Given the description of an element on the screen output the (x, y) to click on. 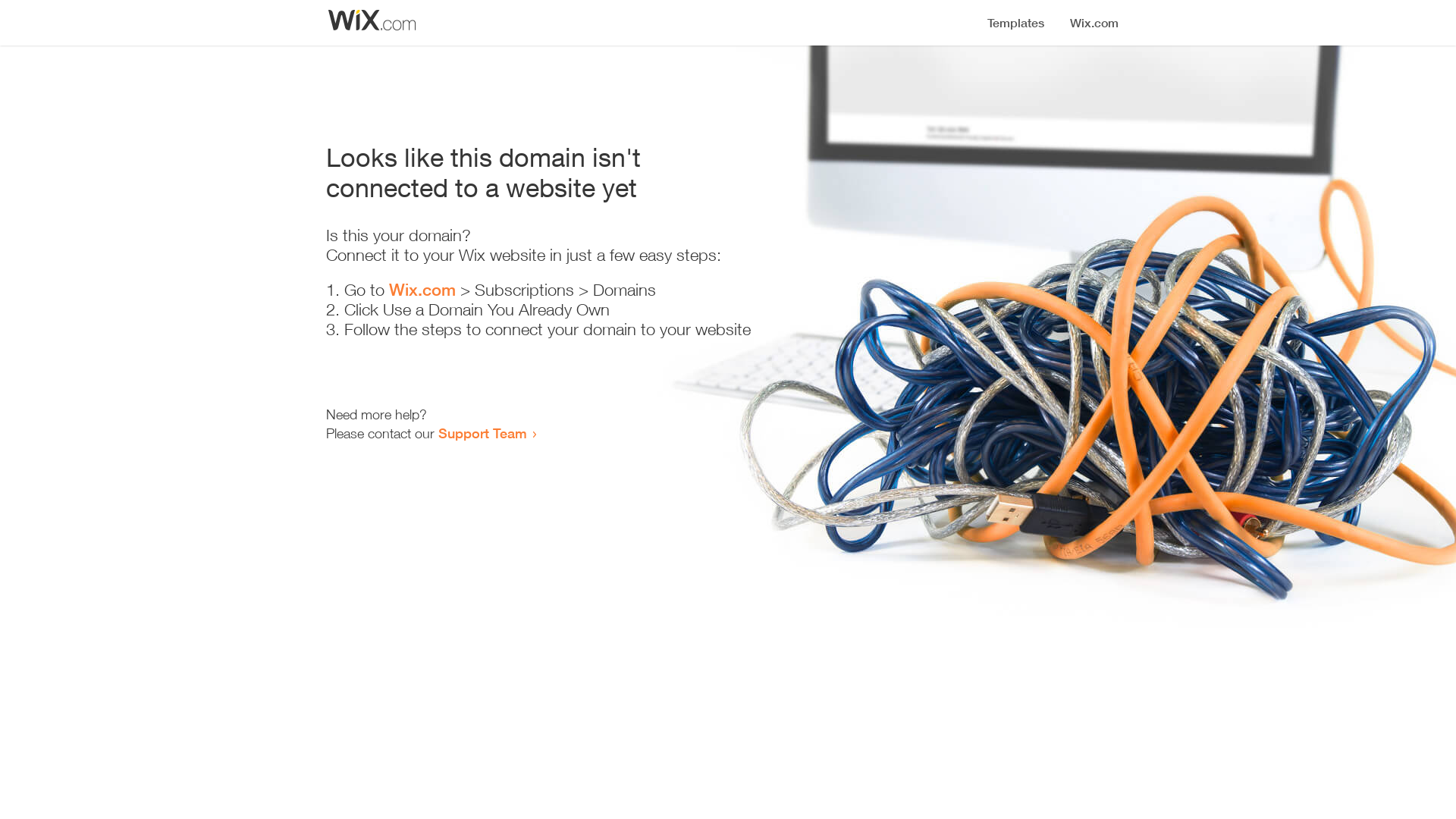
Support Team Element type: text (482, 432)
Wix.com Element type: text (422, 289)
